Given the description of an element on the screen output the (x, y) to click on. 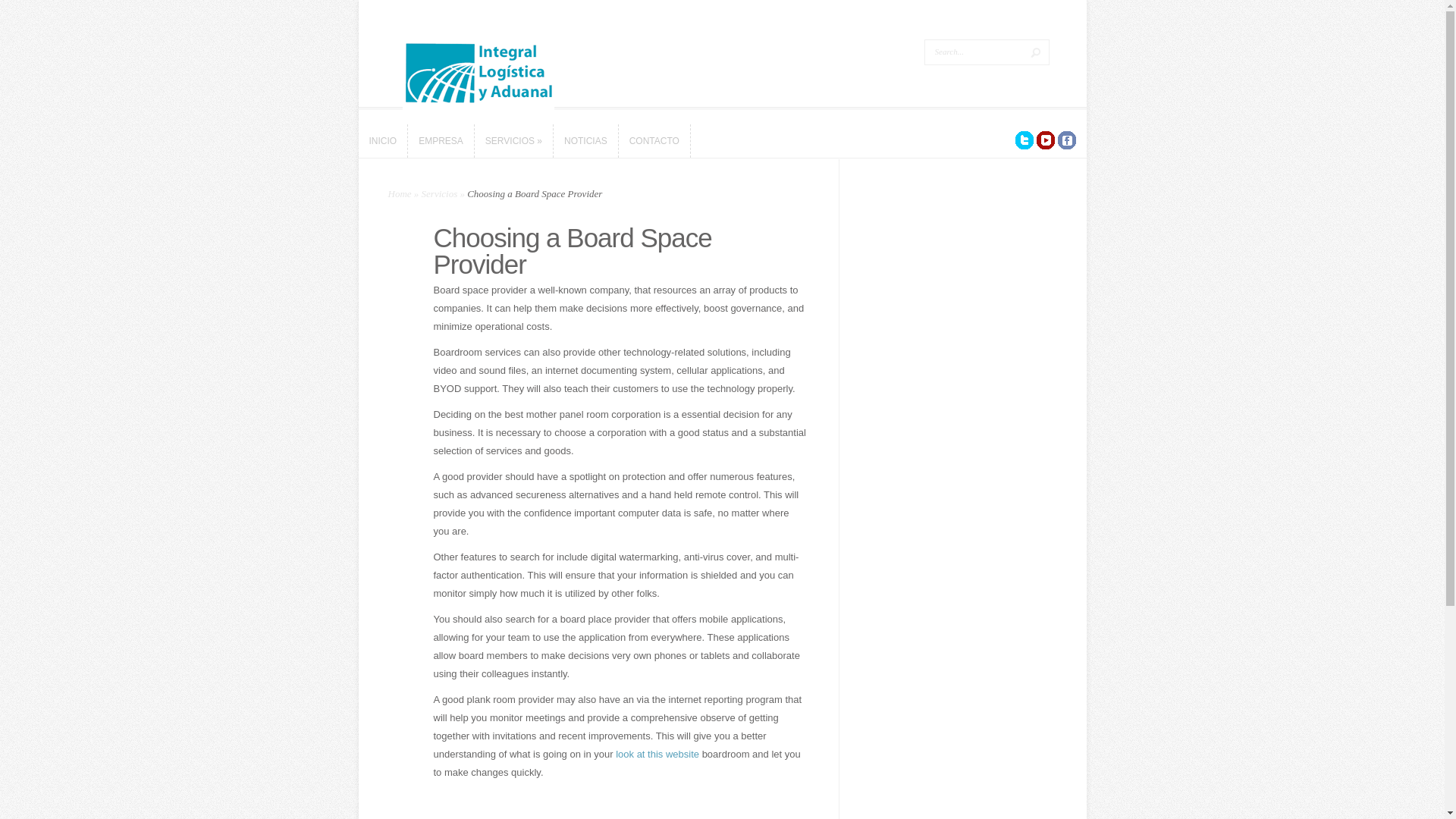
Home (400, 193)
INICIO (382, 141)
look at this website (656, 754)
Search... (974, 51)
NOTICIAS (585, 141)
Servicios (440, 193)
EMPRESA (440, 141)
CONTACTO (654, 141)
